Given the description of an element on the screen output the (x, y) to click on. 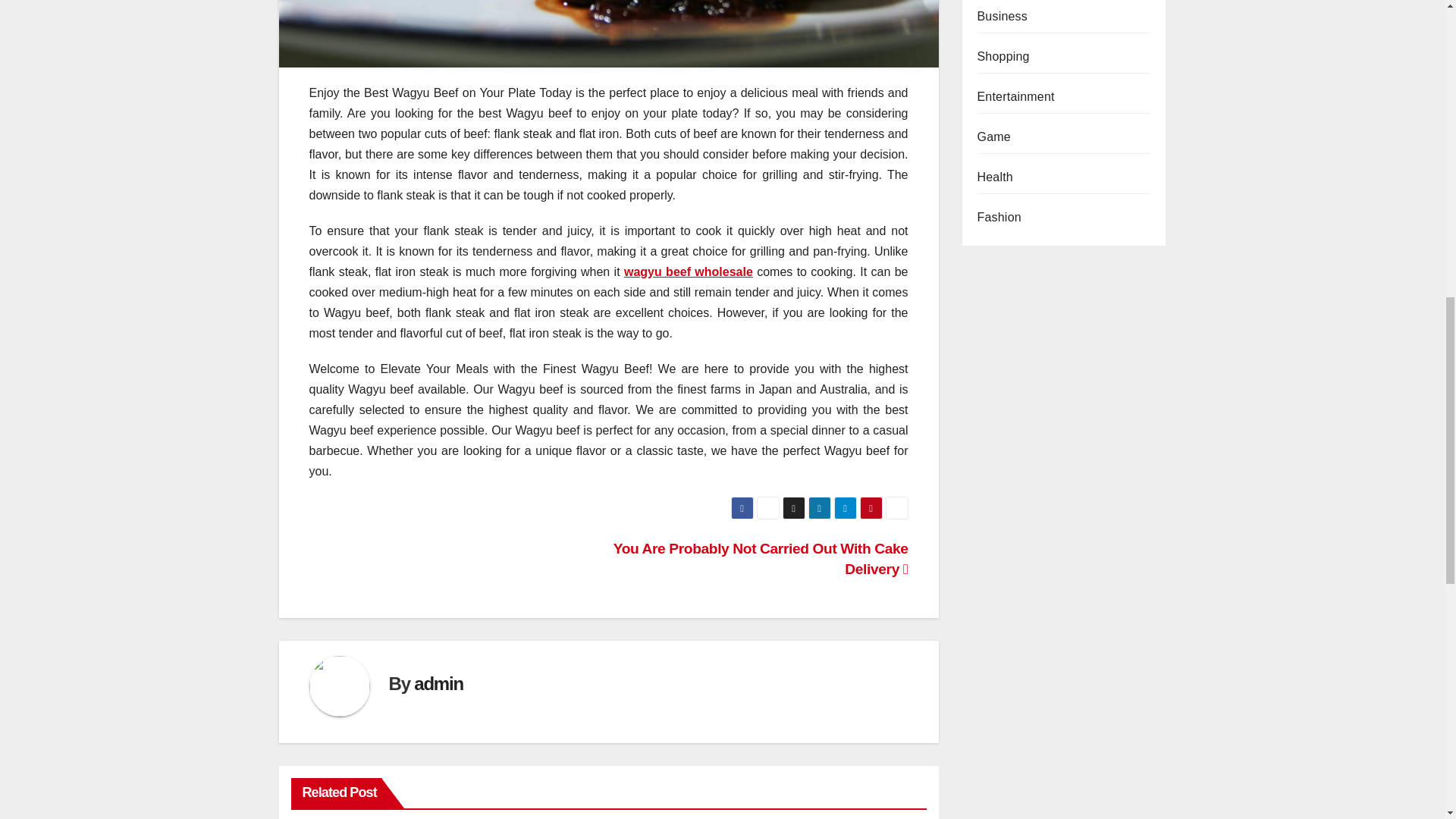
You Are Probably Not Carried Out With Cake Delivery (760, 558)
wagyu beef wholesale (688, 271)
admin (438, 683)
